Given the description of an element on the screen output the (x, y) to click on. 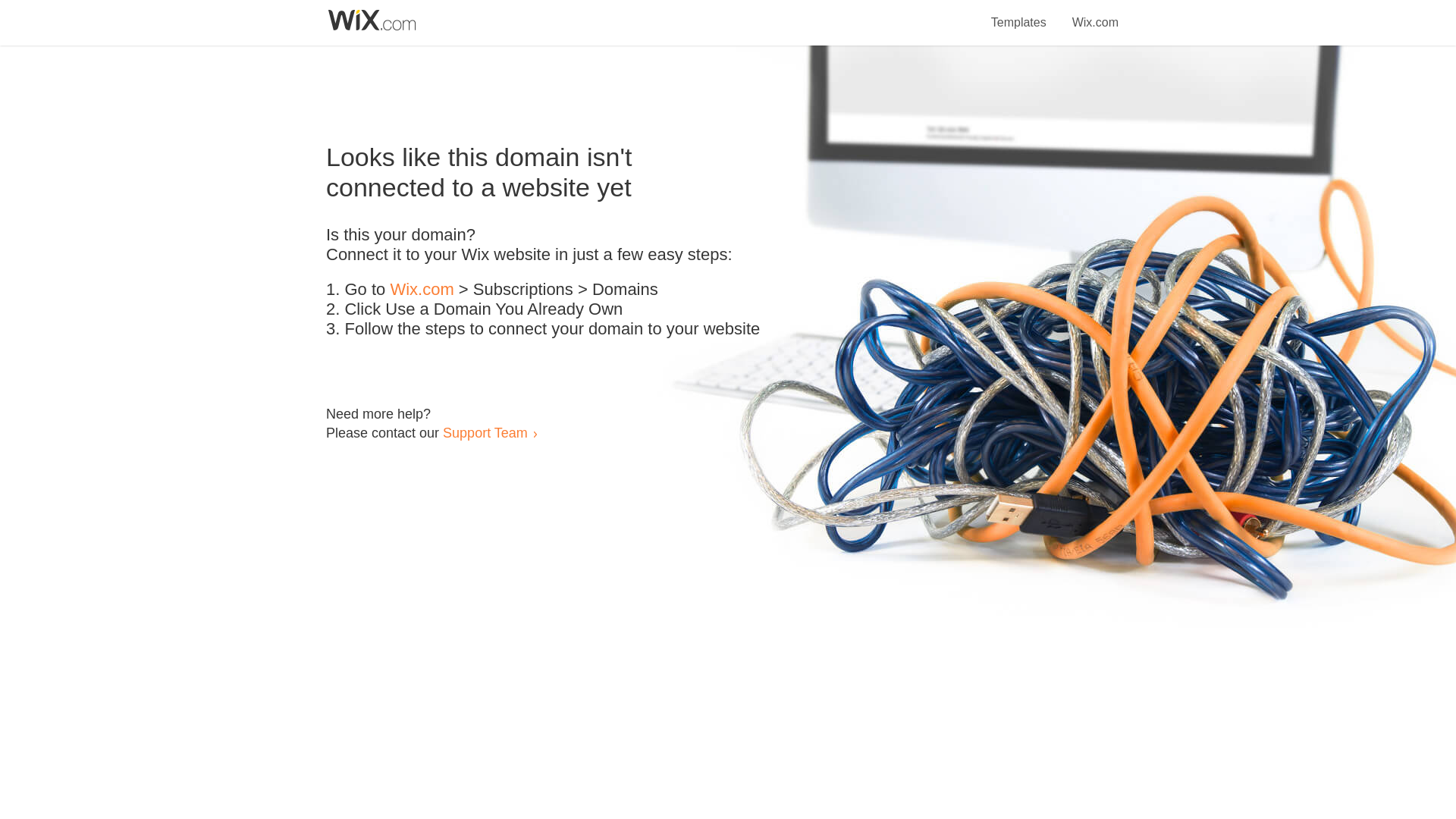
Templates (1018, 14)
Support Team (484, 432)
Wix.com (1095, 14)
Wix.com (421, 289)
